Given the description of an element on the screen output the (x, y) to click on. 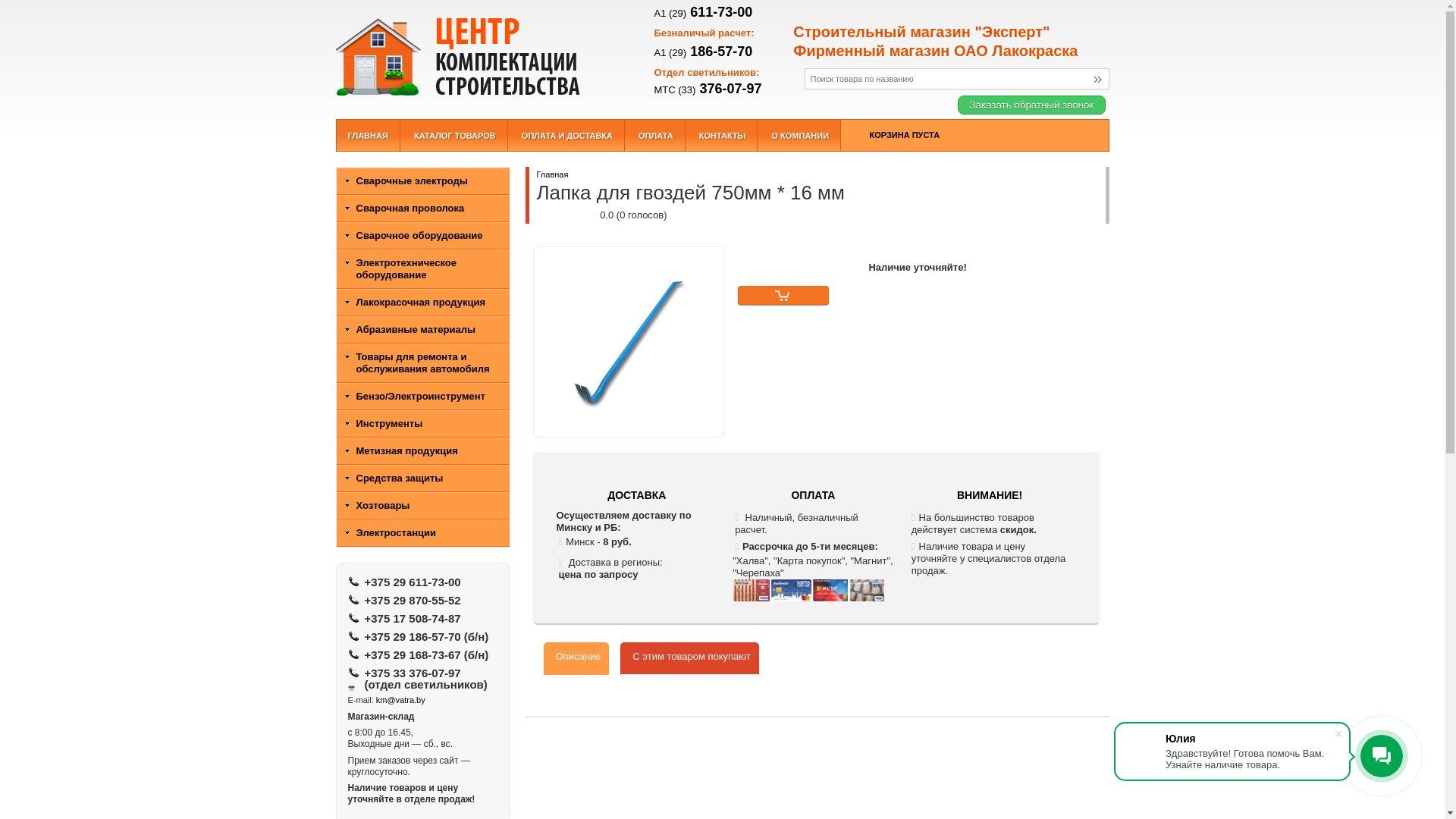
A1 (29) 611-73-00 Element type: text (702, 11)
A1 (29) 186-57-70 Element type: text (702, 51)
km@vatra.by Element type: text (400, 699)
MTC (33) 376-07-97 Element type: text (707, 88)
